Given the description of an element on the screen output the (x, y) to click on. 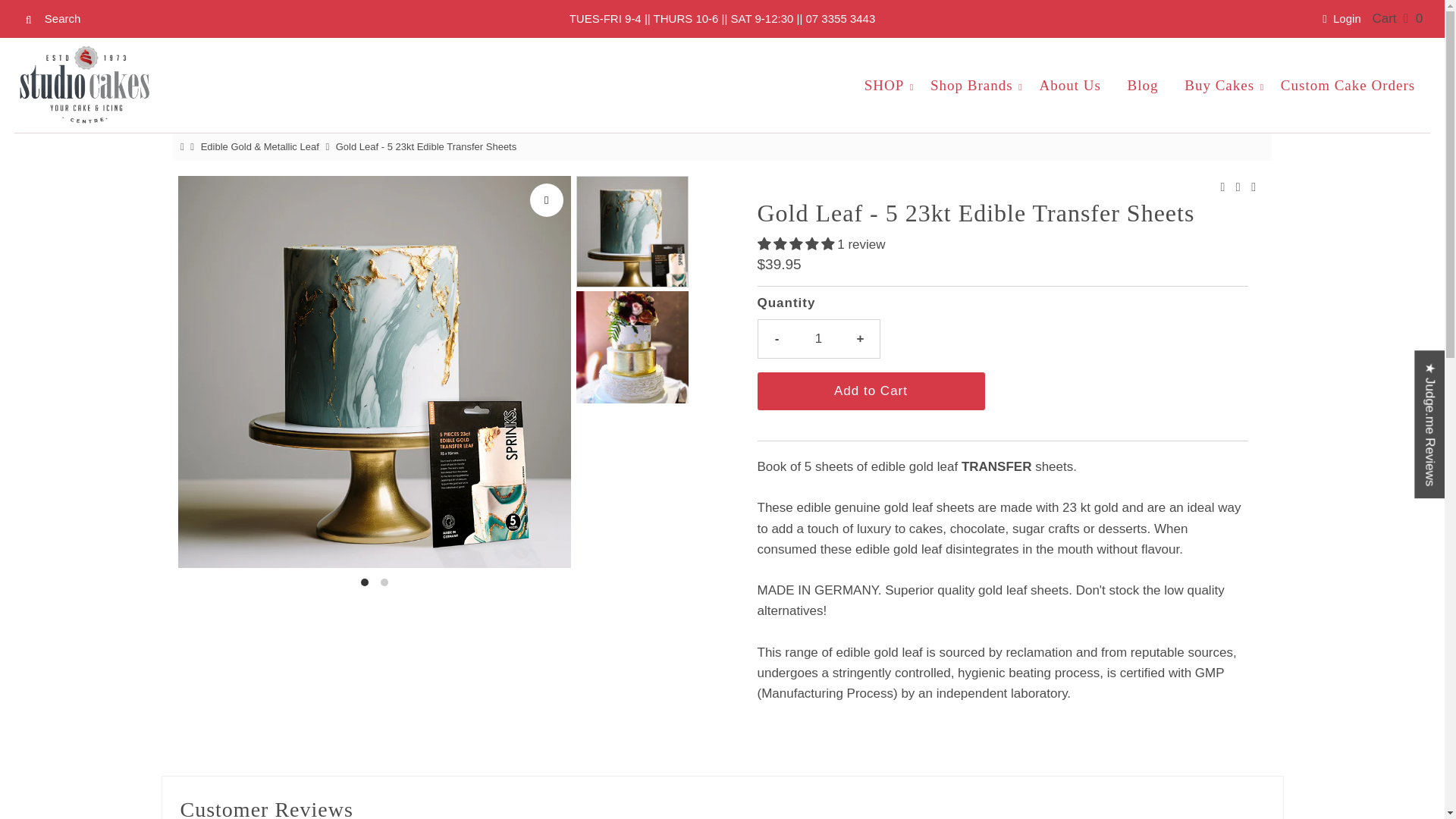
SHOP (884, 85)
Buy Cakes (1219, 85)
Back to the frontpage (183, 146)
Add to Cart (870, 391)
Custom Cake Orders (1347, 85)
Share on Twitter (1238, 186)
Blog (1143, 85)
Share on Pinterest (1252, 186)
  Login (1341, 18)
About Us (1069, 85)
Cart    0 (1396, 18)
1 (818, 338)
Shop Brands (971, 85)
